Given the description of an element on the screen output the (x, y) to click on. 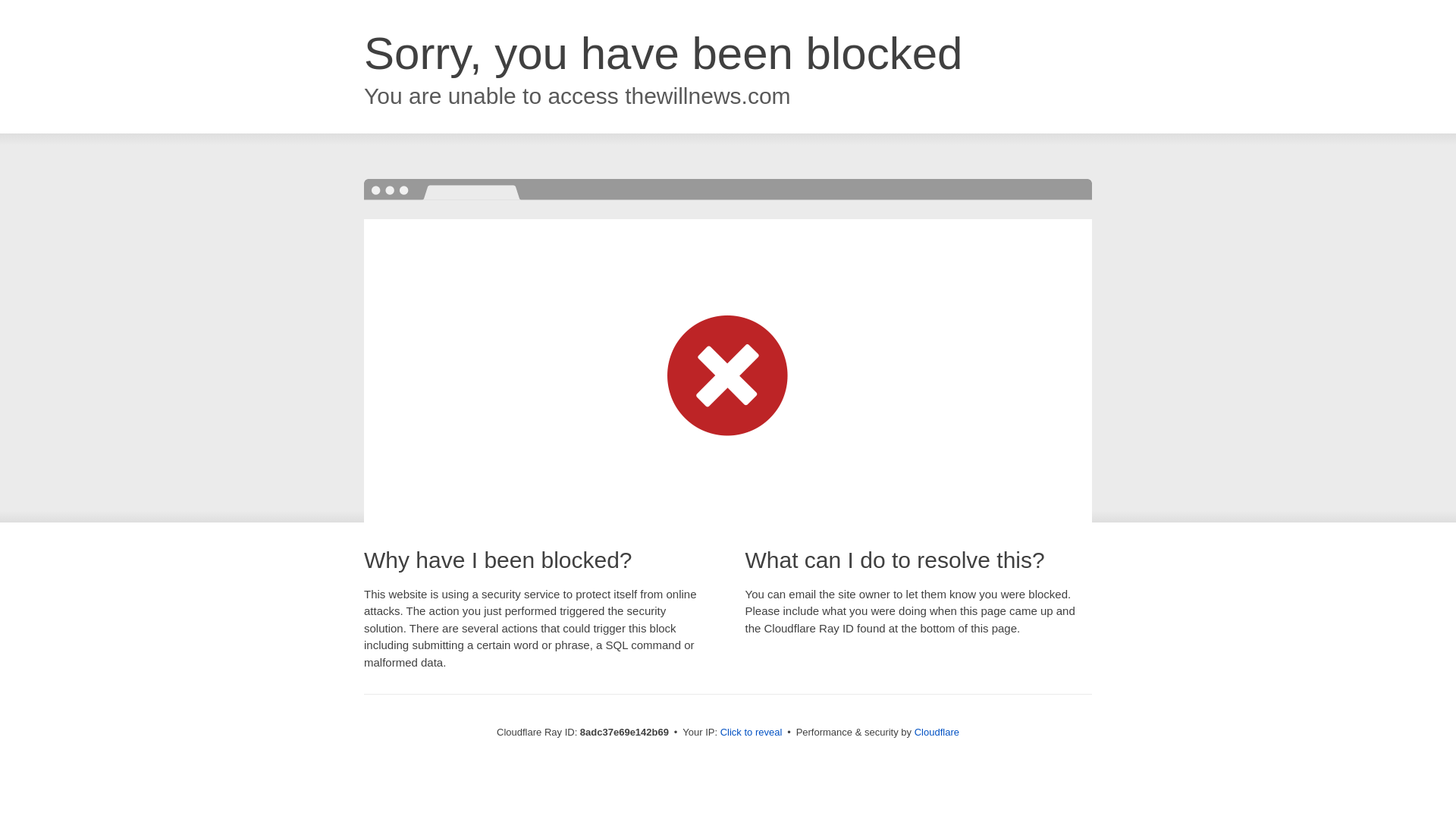
Click to reveal (751, 732)
Cloudflare (936, 731)
